Given the description of an element on the screen output the (x, y) to click on. 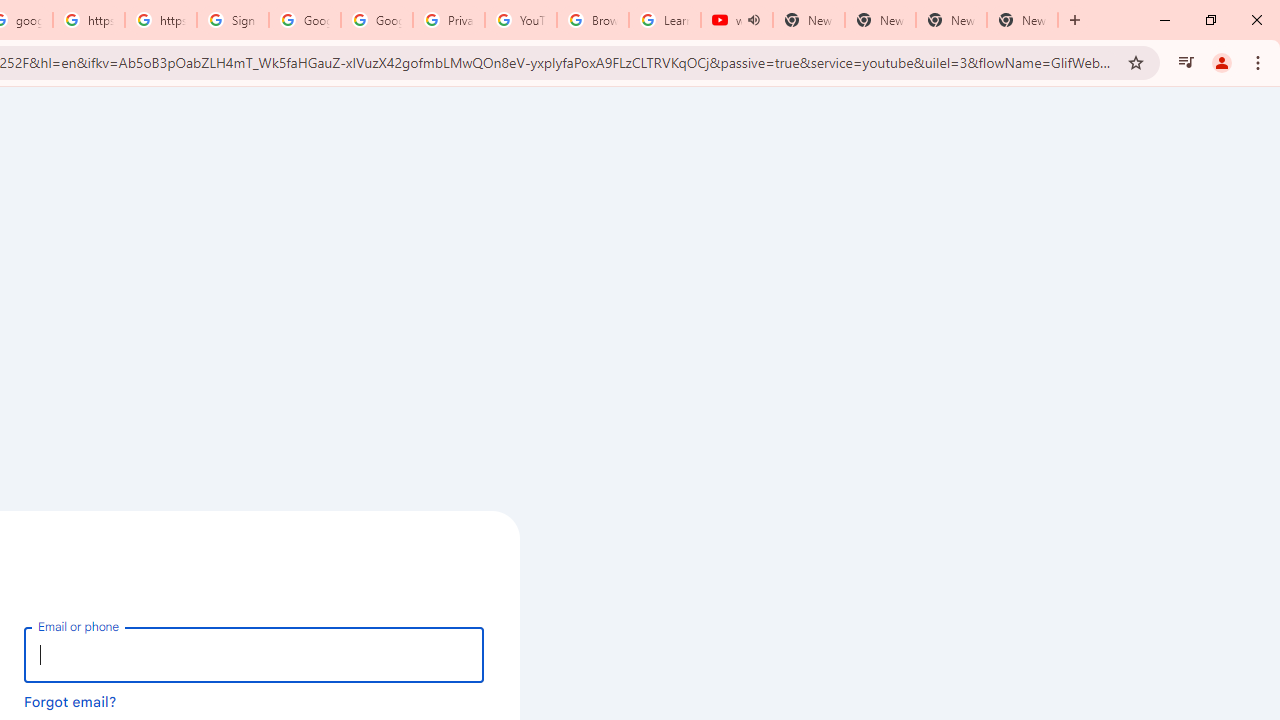
https://scholar.google.com/ (161, 20)
Forgot email? (70, 701)
New Tab (1022, 20)
Sign in - Google Accounts (232, 20)
Email or phone (253, 654)
